Given the description of an element on the screen output the (x, y) to click on. 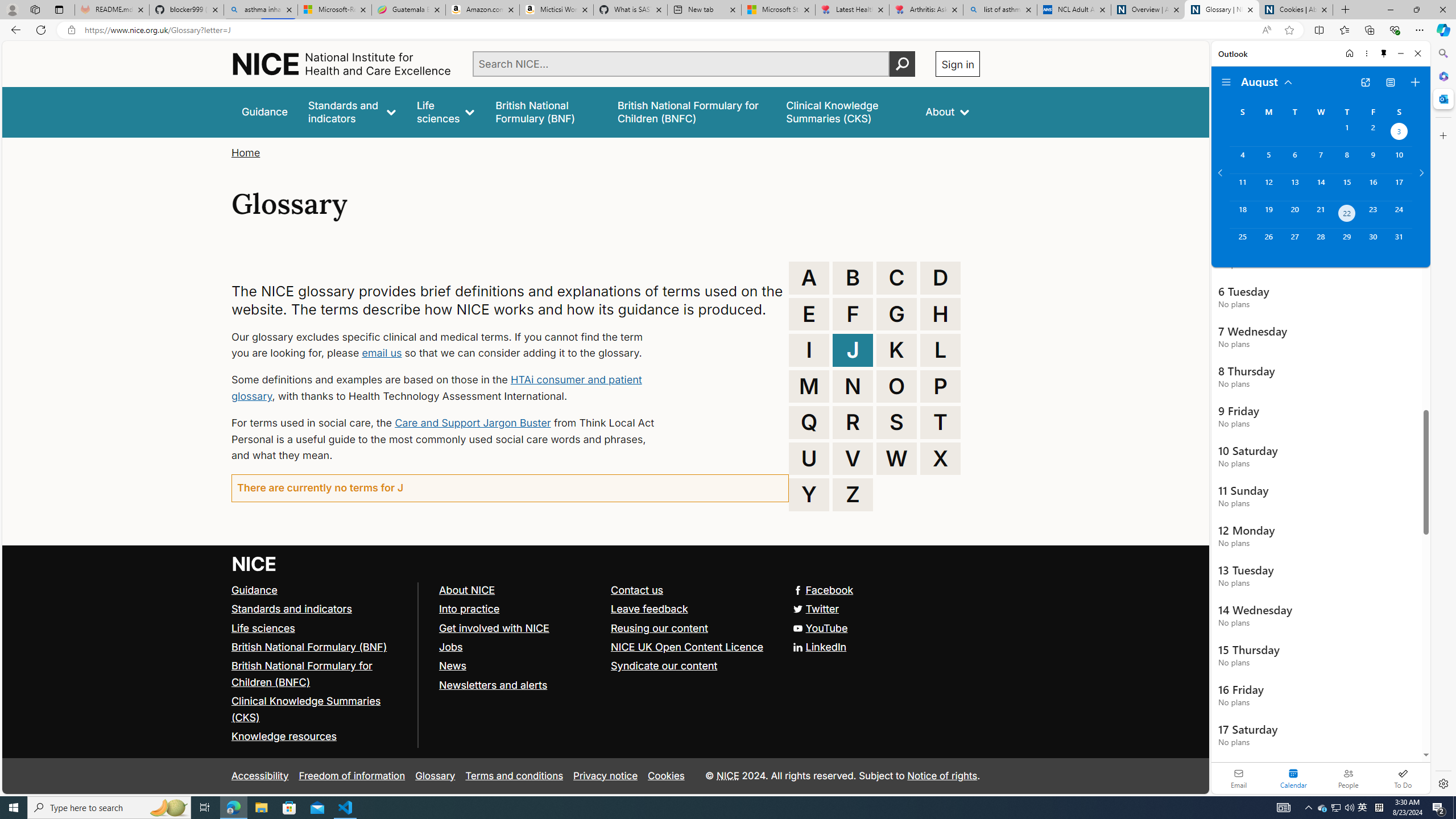
Glossary (434, 775)
Cookies (665, 775)
W (896, 458)
Perform search (902, 63)
J (852, 350)
Accessibility (259, 775)
Y (809, 494)
Privacy notice (605, 775)
About NICE (466, 589)
D (940, 277)
YouTube (605, 628)
